Given the description of an element on the screen output the (x, y) to click on. 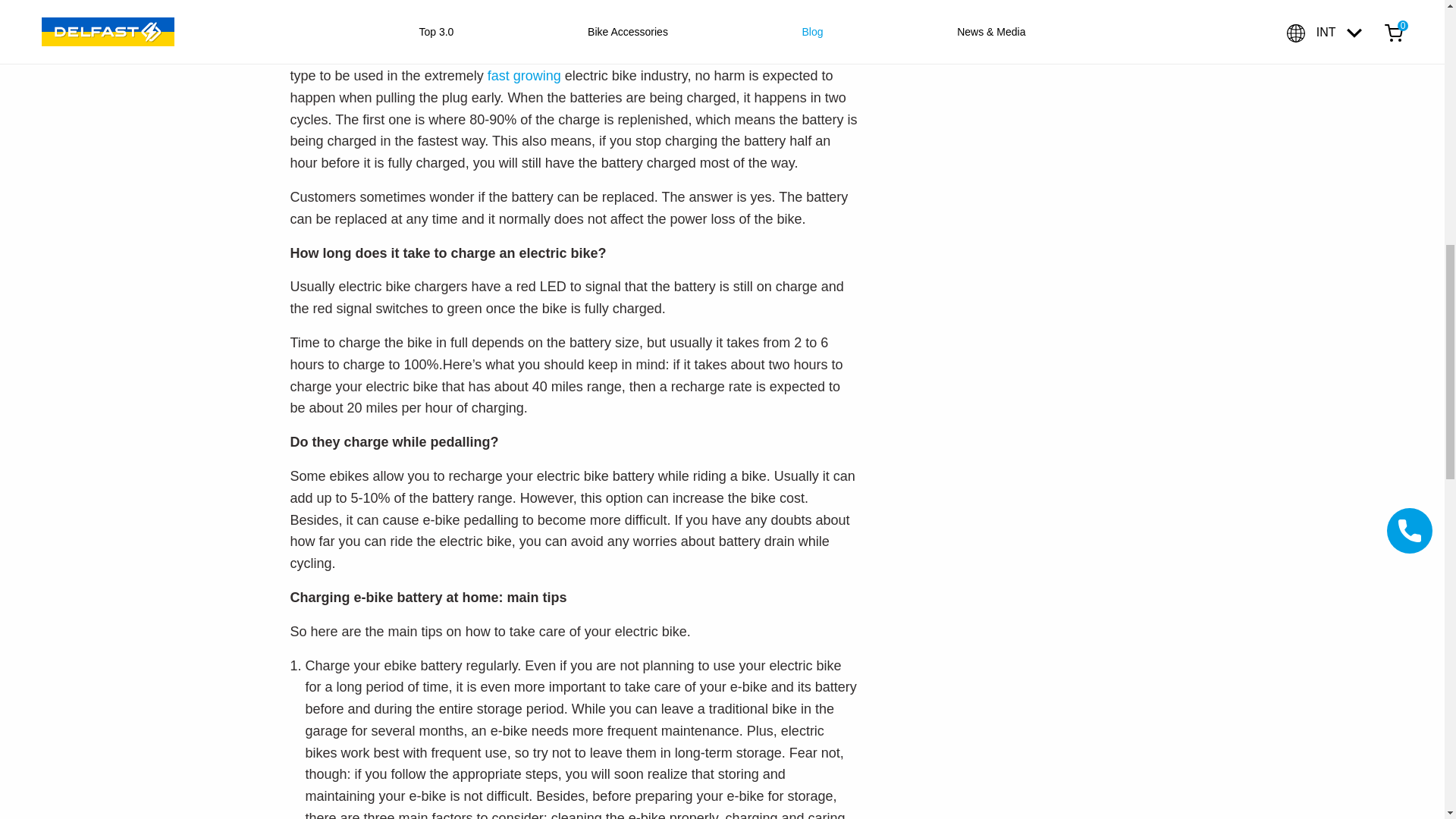
fast growing (523, 75)
